Given the description of an element on the screen output the (x, y) to click on. 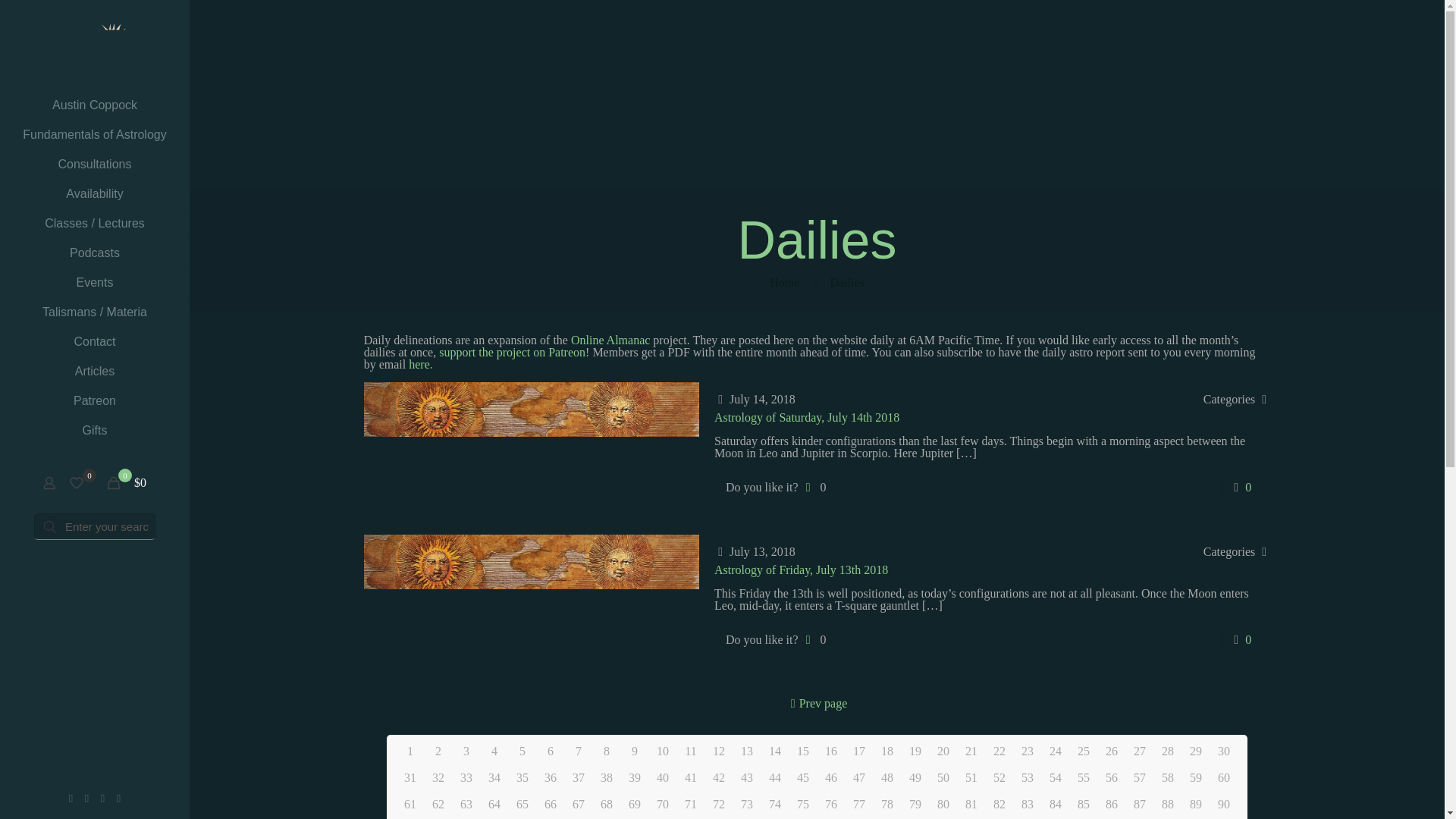
support the project on Patreon (512, 351)
Gifts (94, 430)
Austin Coppock (94, 105)
Instagram (118, 798)
Austin Coppock (94, 45)
0 (814, 486)
Articles (94, 371)
Contact (94, 342)
Fundamentals of Astrology (94, 134)
Astrology of Saturday, July 14th 2018 (806, 417)
Dailies (846, 282)
Facebook (71, 798)
YouTube (102, 798)
Online Almanac (609, 339)
0 (81, 482)
